Given the description of an element on the screen output the (x, y) to click on. 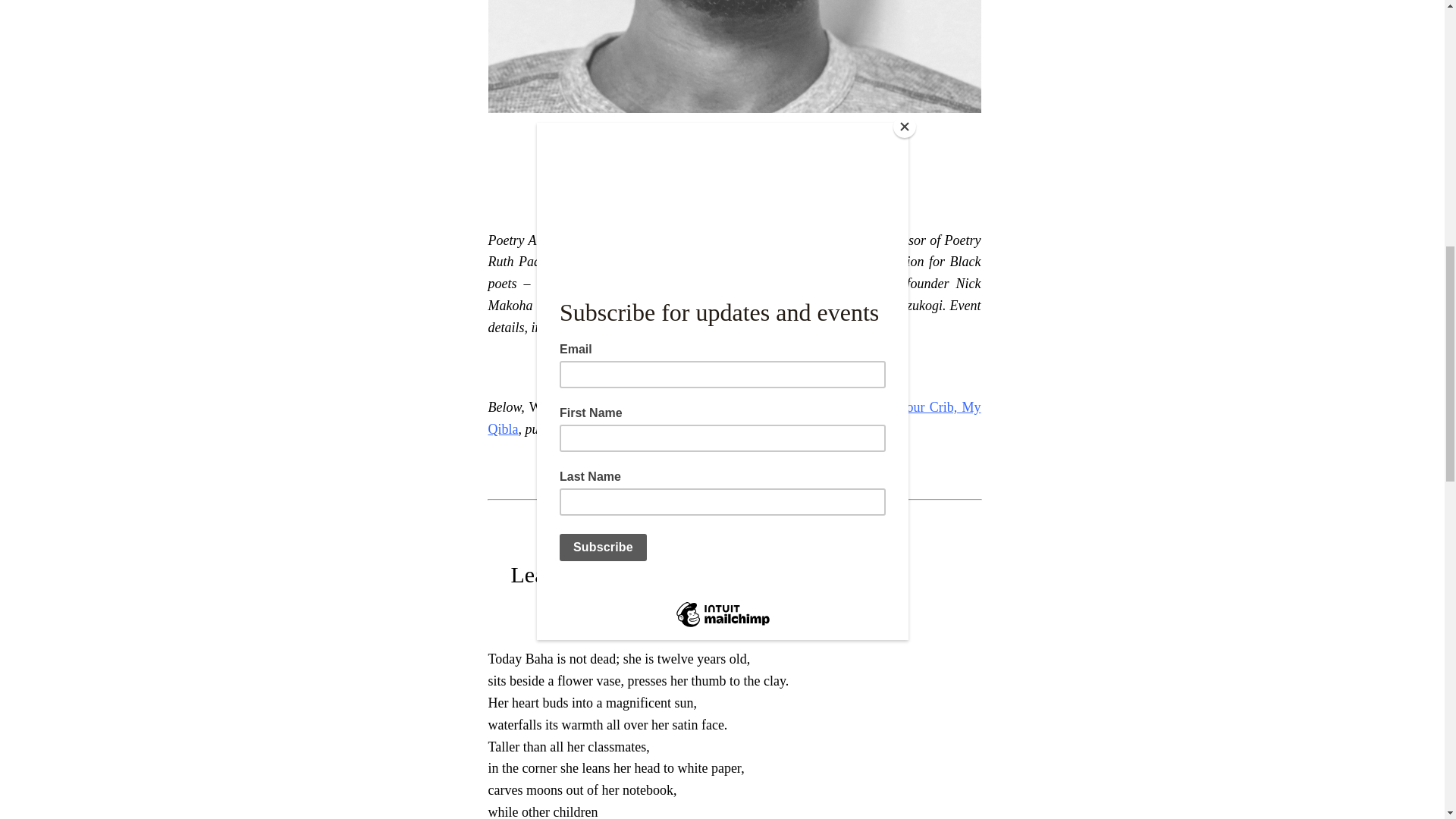
Your Crib, My Qibla (734, 417)
here (820, 327)
